Given the description of an element on the screen output the (x, y) to click on. 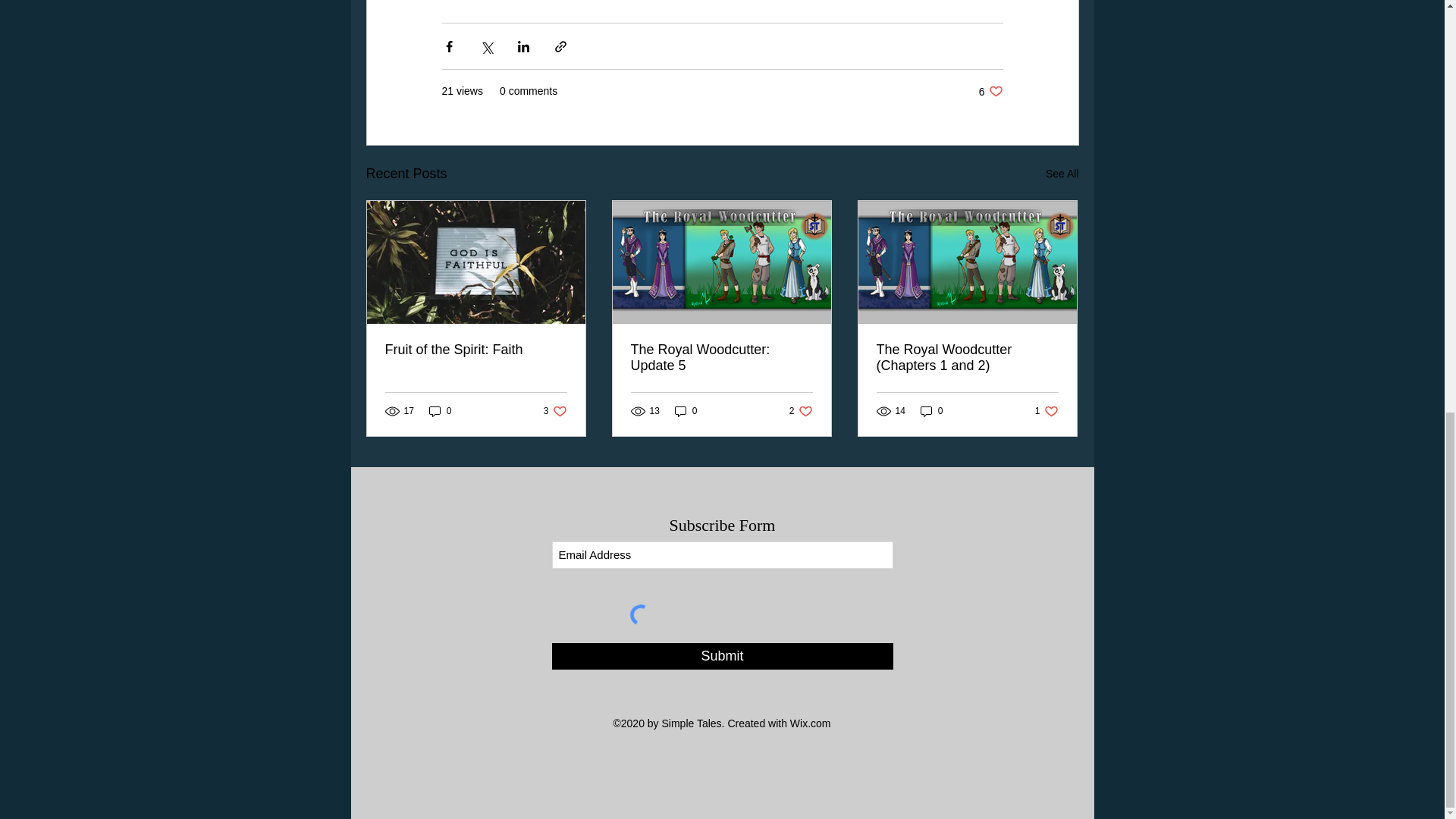
0 (555, 411)
Submit (685, 411)
0 (800, 411)
See All (722, 655)
The Royal Woodcutter: Update 5 (440, 411)
Fruit of the Spirit: Faith (1061, 173)
